Given the description of an element on the screen output the (x, y) to click on. 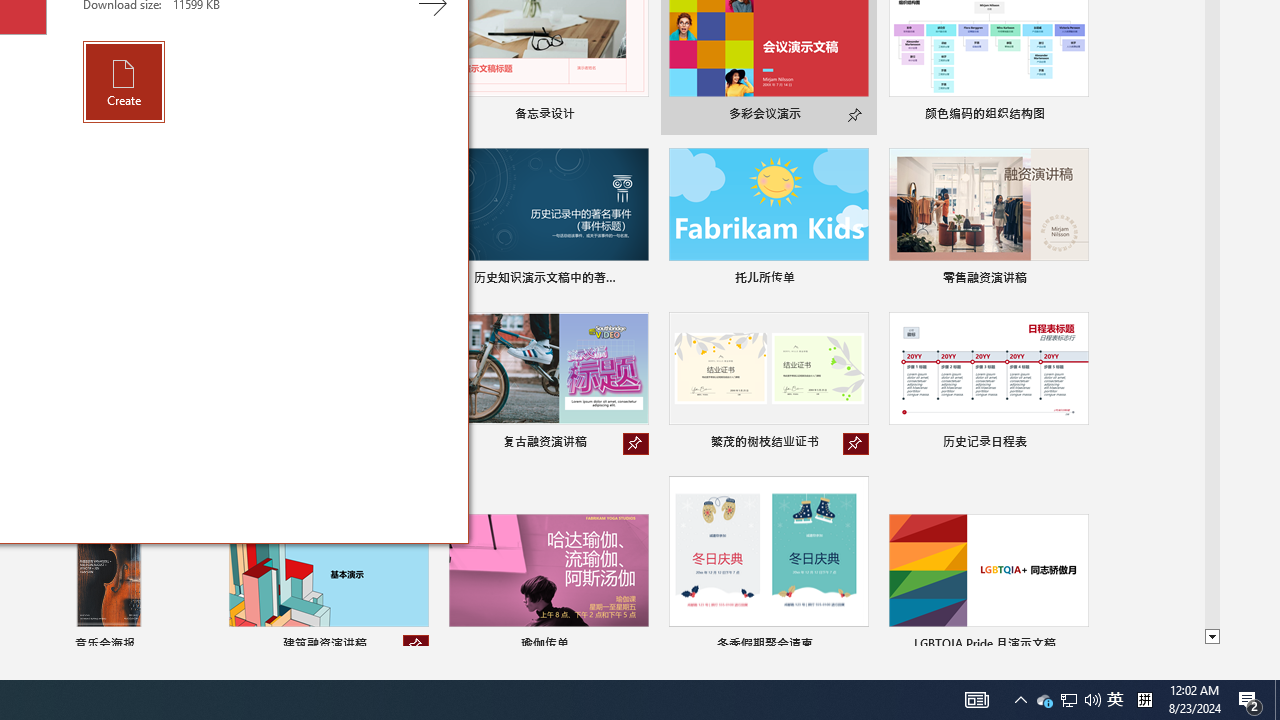
Line down (1212, 637)
Show desktop (1044, 699)
